Given the description of an element on the screen output the (x, y) to click on. 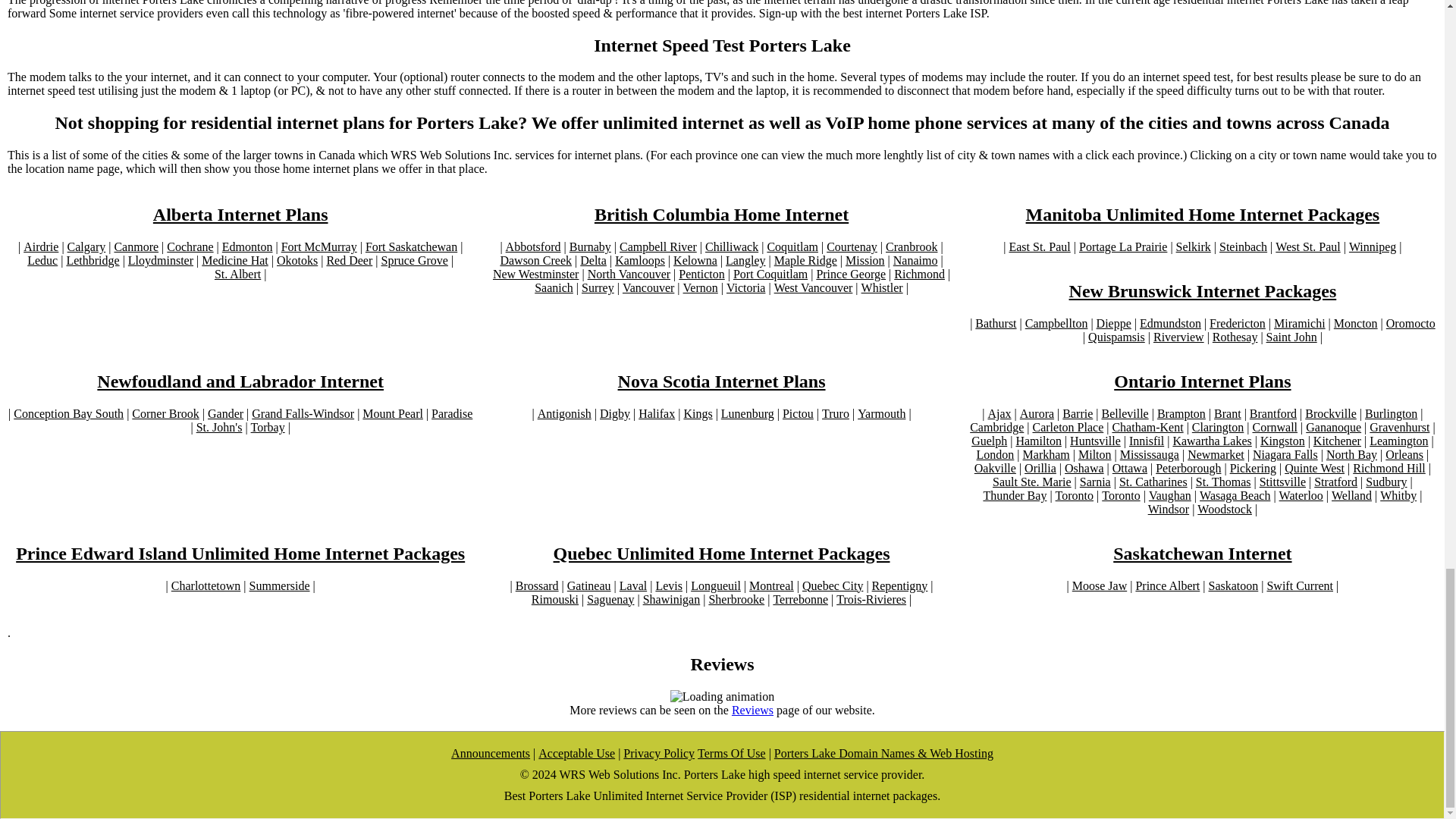
Cochrane (189, 246)
Red Deer (349, 260)
Spruce Grove (413, 260)
Airdrie (40, 246)
Canmore (135, 246)
Leduc (42, 260)
St. Albert (237, 274)
Calgary (86, 246)
Fort McMurray (318, 246)
Lethbridge (92, 260)
